Given the description of an element on the screen output the (x, y) to click on. 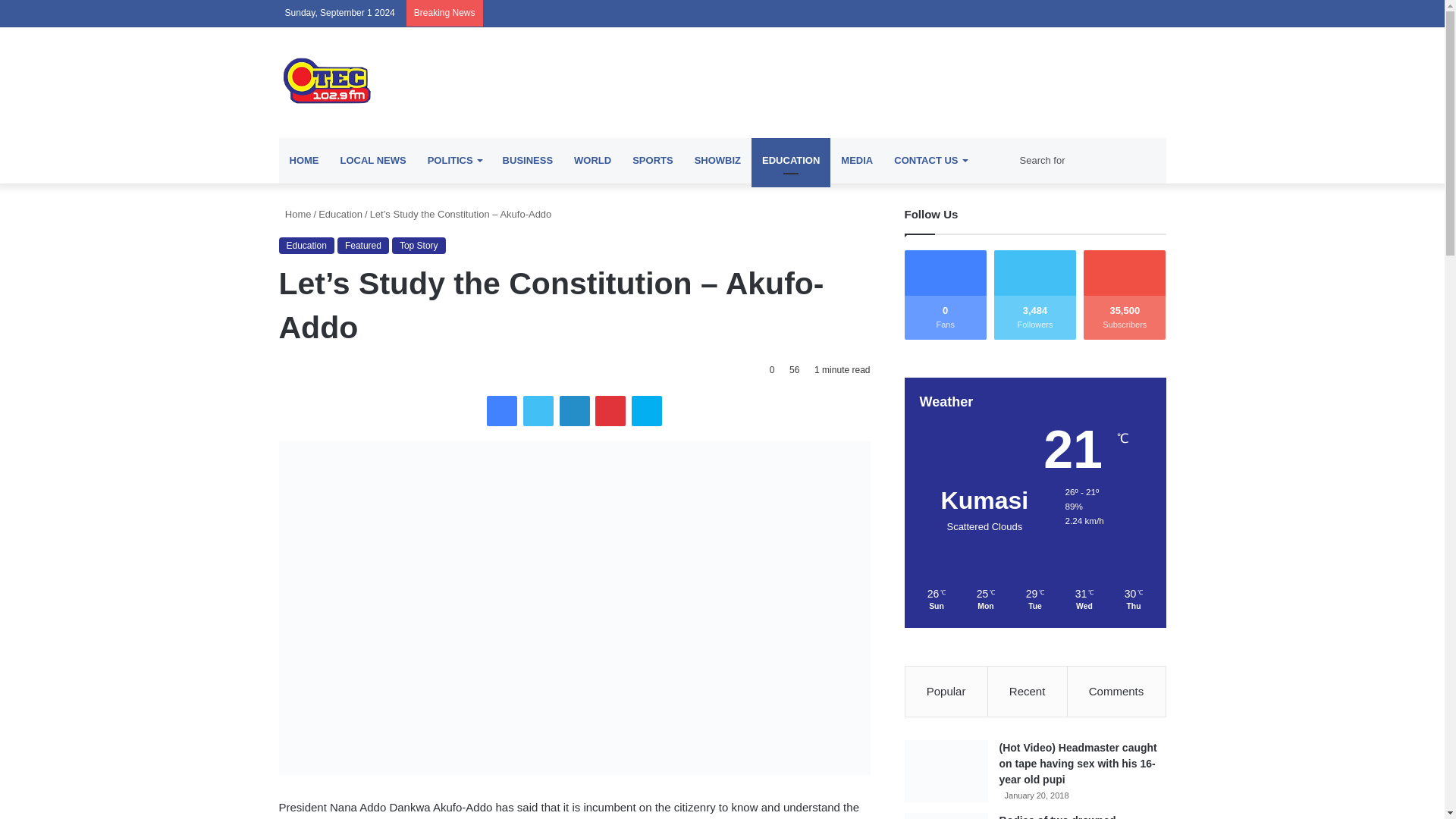
Search for (1088, 160)
Skype (646, 410)
Facebook (501, 410)
CONTACT US (929, 160)
Twitter (537, 410)
Pinterest (610, 410)
Otec 102.9 FM (419, 80)
MEDIA (856, 160)
Education (340, 214)
Home (295, 214)
